Given the description of an element on the screen output the (x, y) to click on. 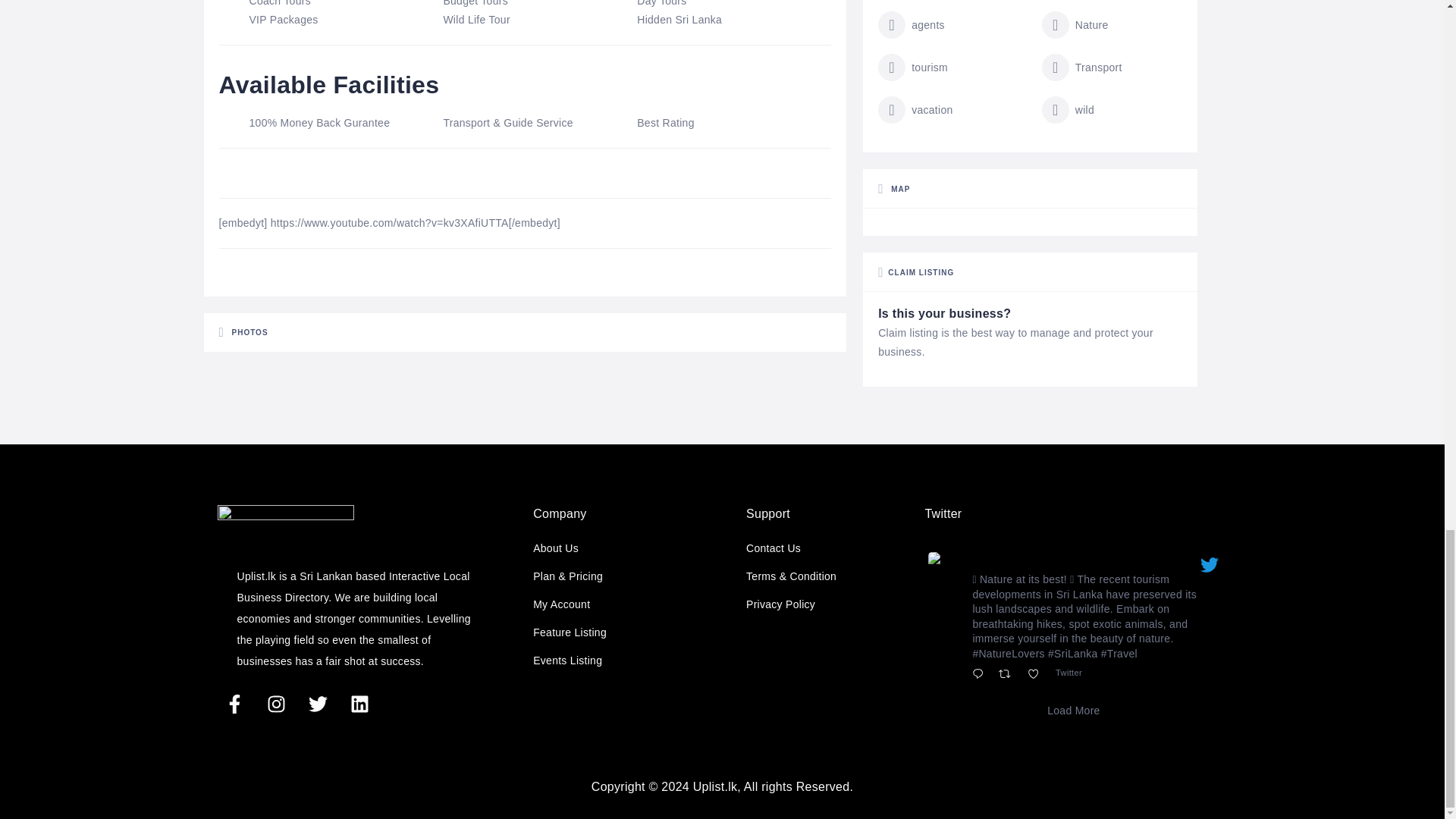
Transport (1082, 67)
Nature (1075, 24)
tourism (912, 67)
Nature (1075, 24)
vacation (914, 109)
agents (910, 24)
vacation (914, 109)
agents (910, 24)
wild (1068, 109)
Transport (1082, 67)
